Given the description of an element on the screen output the (x, y) to click on. 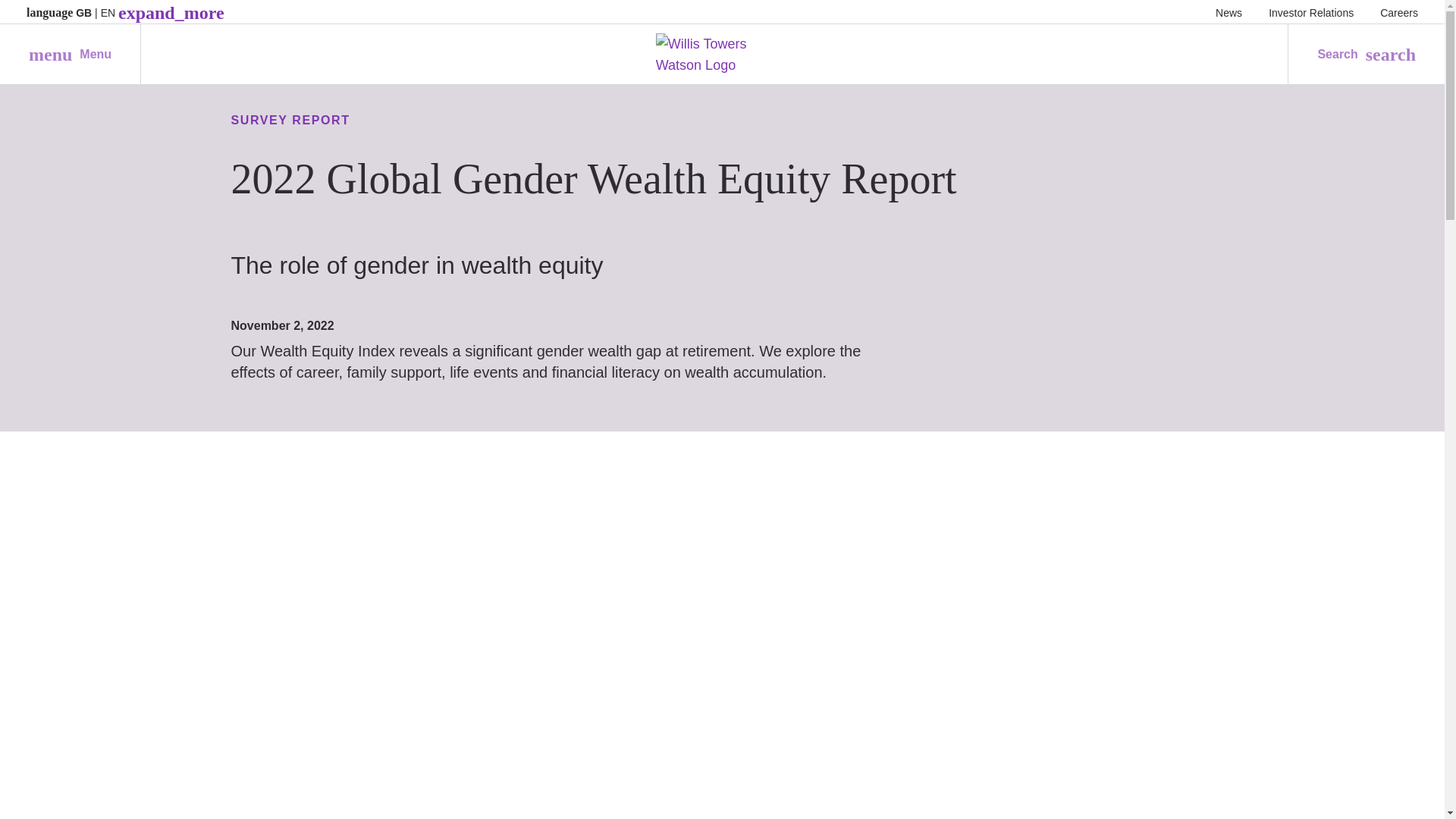
News (1228, 12)
Investor Relations (69, 54)
Careers (1311, 12)
